Given the description of an element on the screen output the (x, y) to click on. 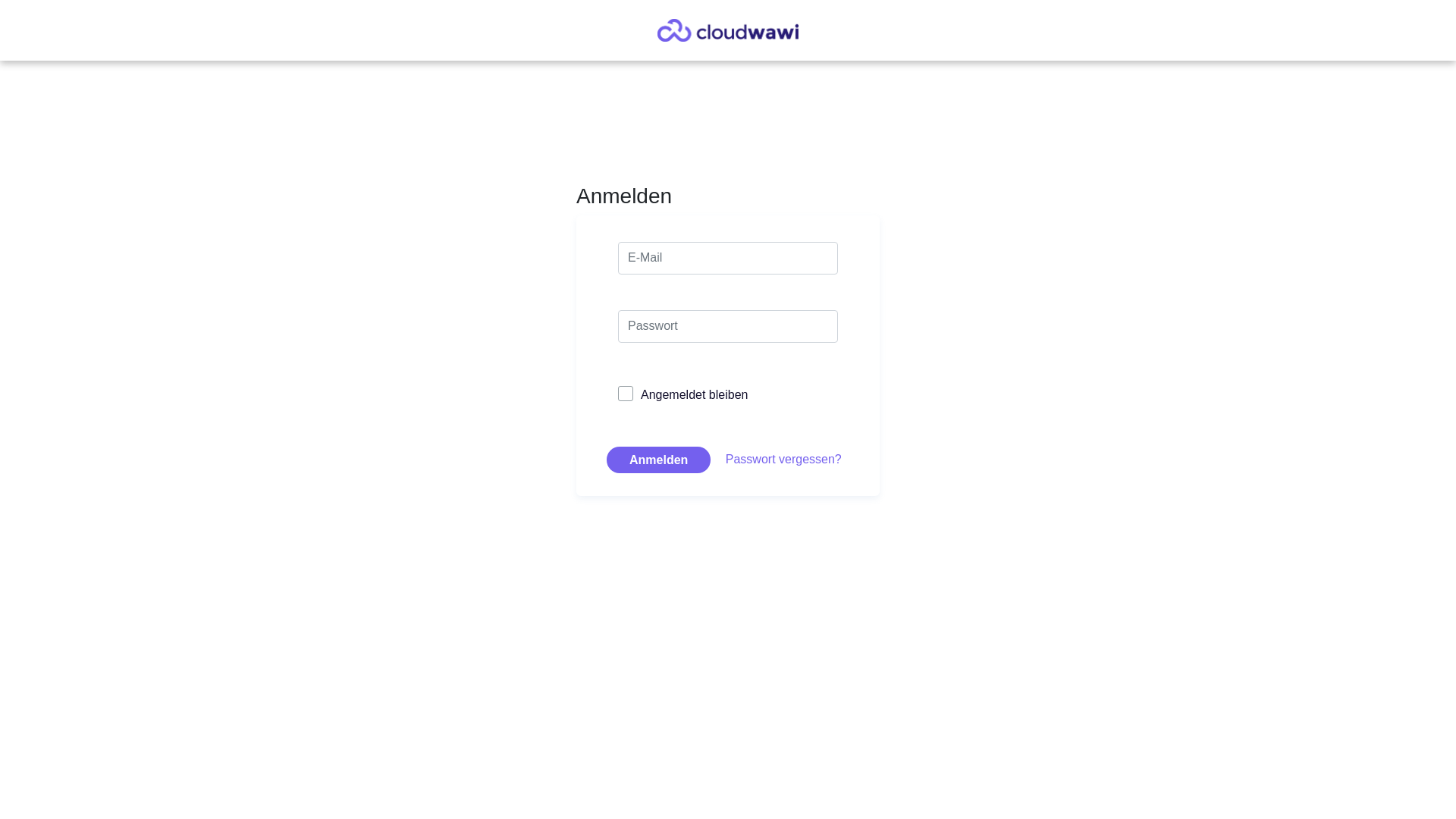
Passwort vergessen? Element type: text (783, 457)
Anmelden Element type: text (658, 459)
